Given the description of an element on the screen output the (x, y) to click on. 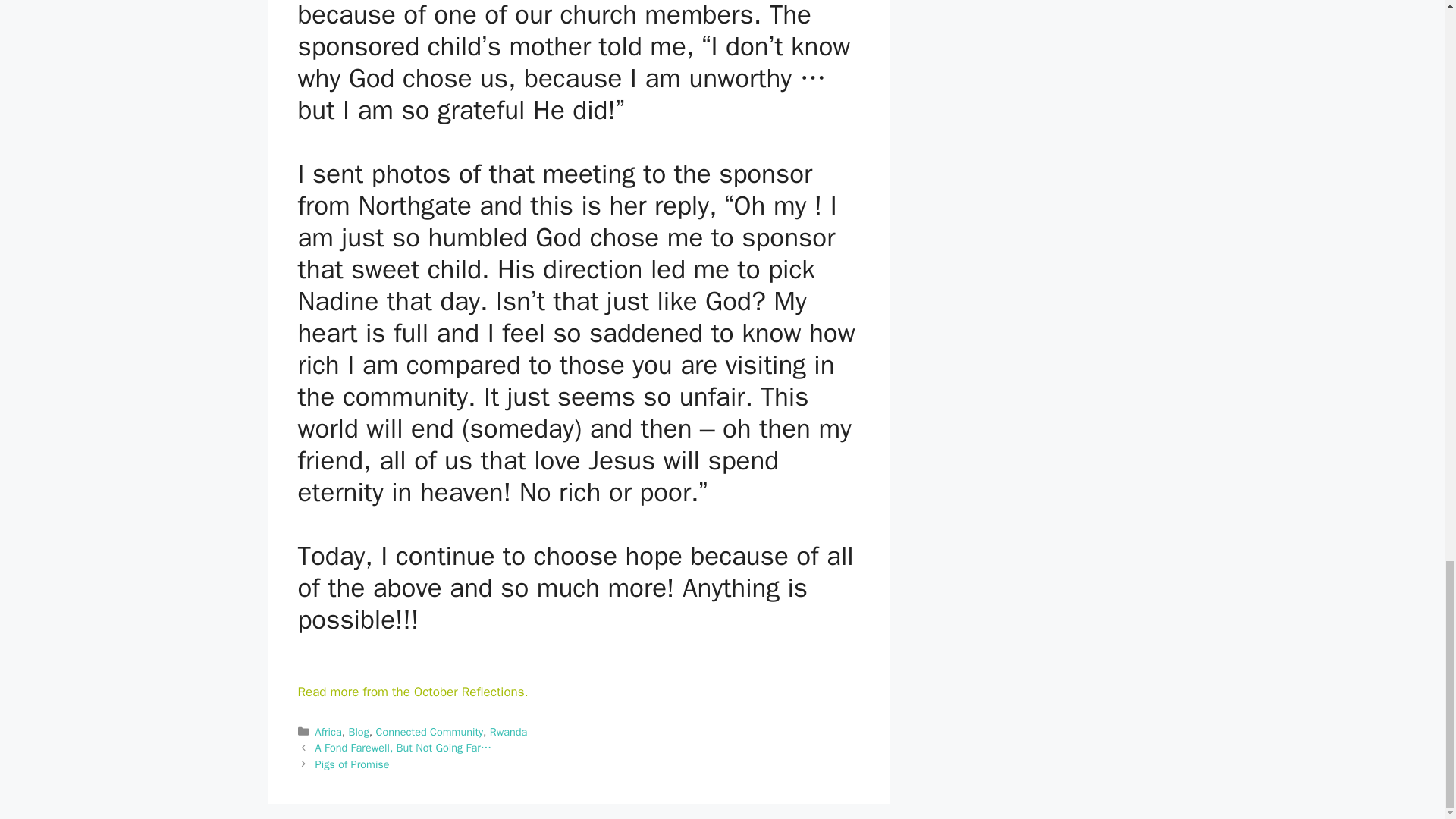
Read more from the October Reflections. (412, 691)
Rwanda (508, 731)
Pigs of Promise (352, 764)
Blog (357, 731)
Connected Community (429, 731)
Africa (328, 731)
